Given the description of an element on the screen output the (x, y) to click on. 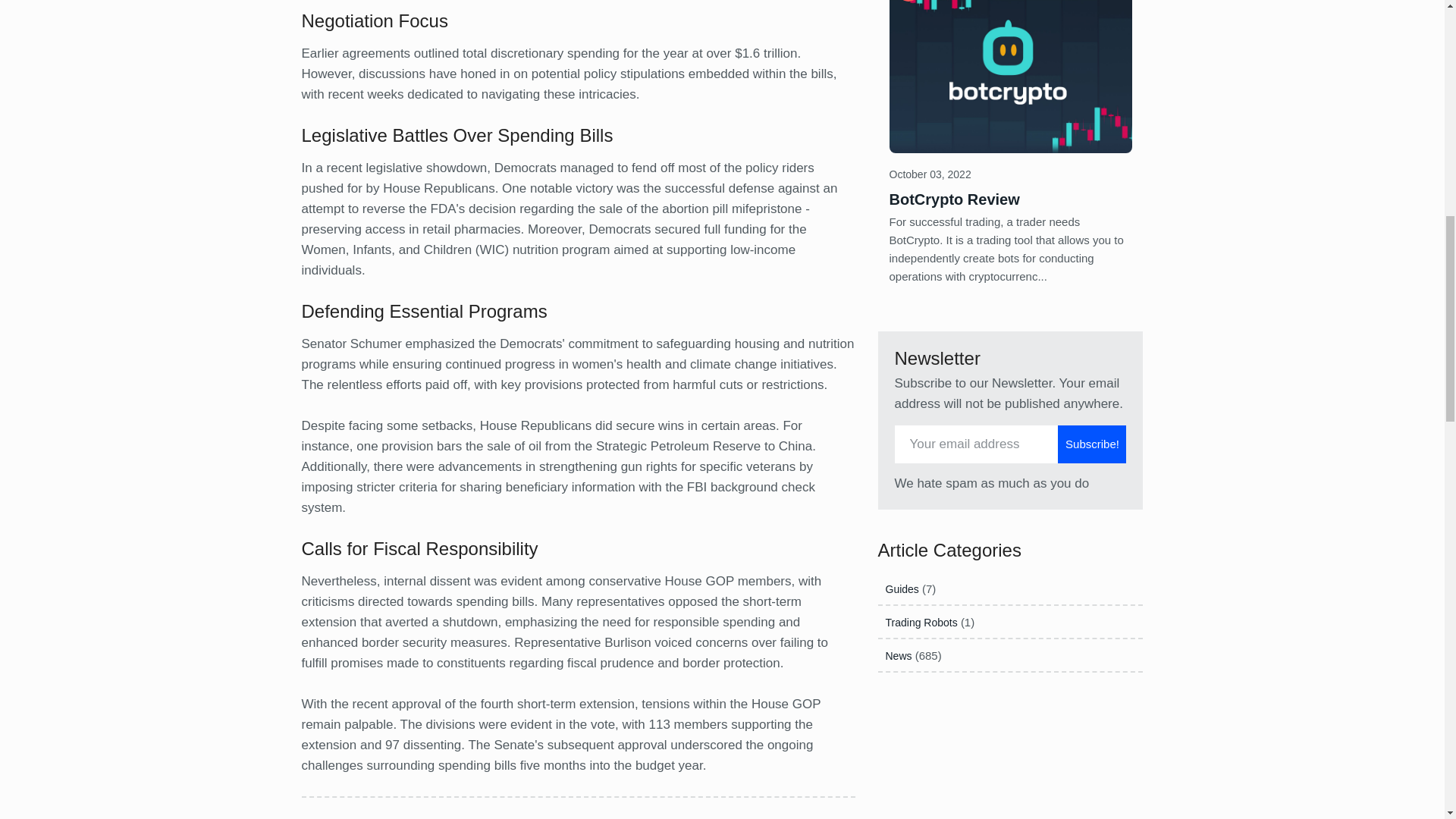
BotCrypto Review (953, 199)
